Given the description of an element on the screen output the (x, y) to click on. 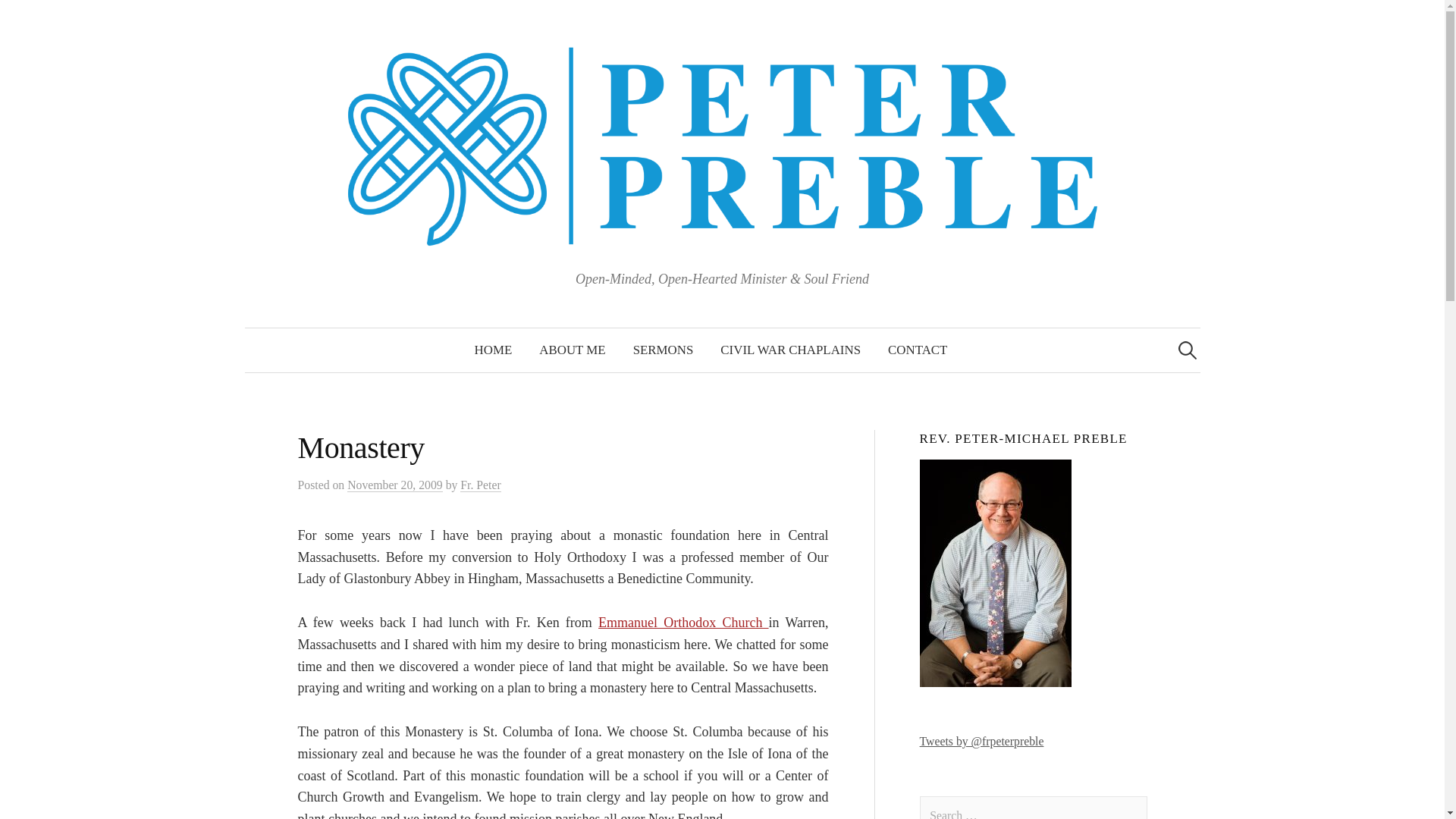
Search (40, 18)
Fr. Peter (480, 485)
ABOUT ME (571, 350)
Search (18, 18)
CONTACT (917, 350)
View all posts by Fr. Peter (480, 485)
CIVIL WAR CHAPLAINS (790, 350)
Emmanuel Orthodox Church (683, 622)
November 20, 2009 (394, 485)
HOME (493, 350)
